Given the description of an element on the screen output the (x, y) to click on. 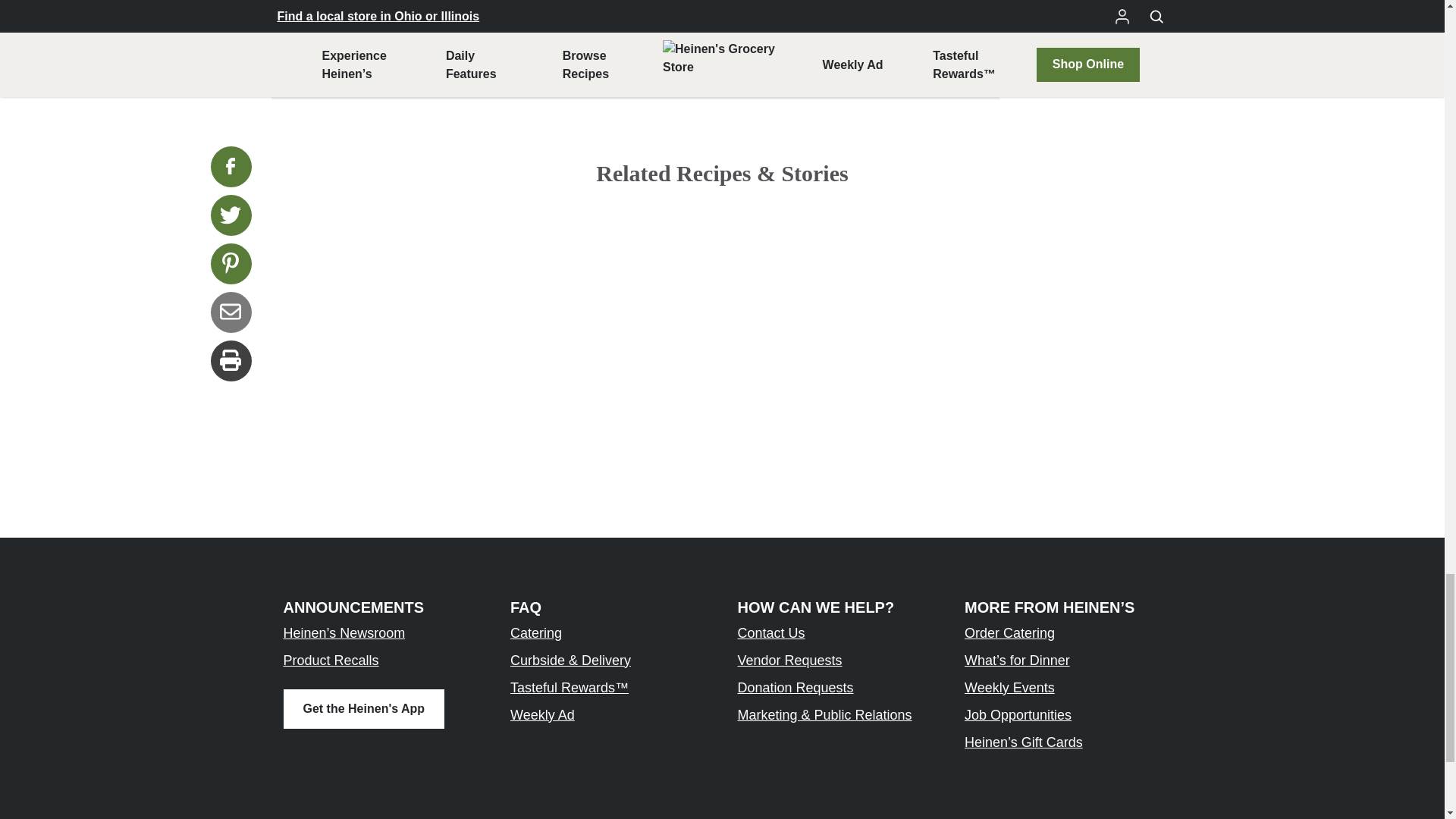
Post Comment (634, 7)
